Given the description of an element on the screen output the (x, y) to click on. 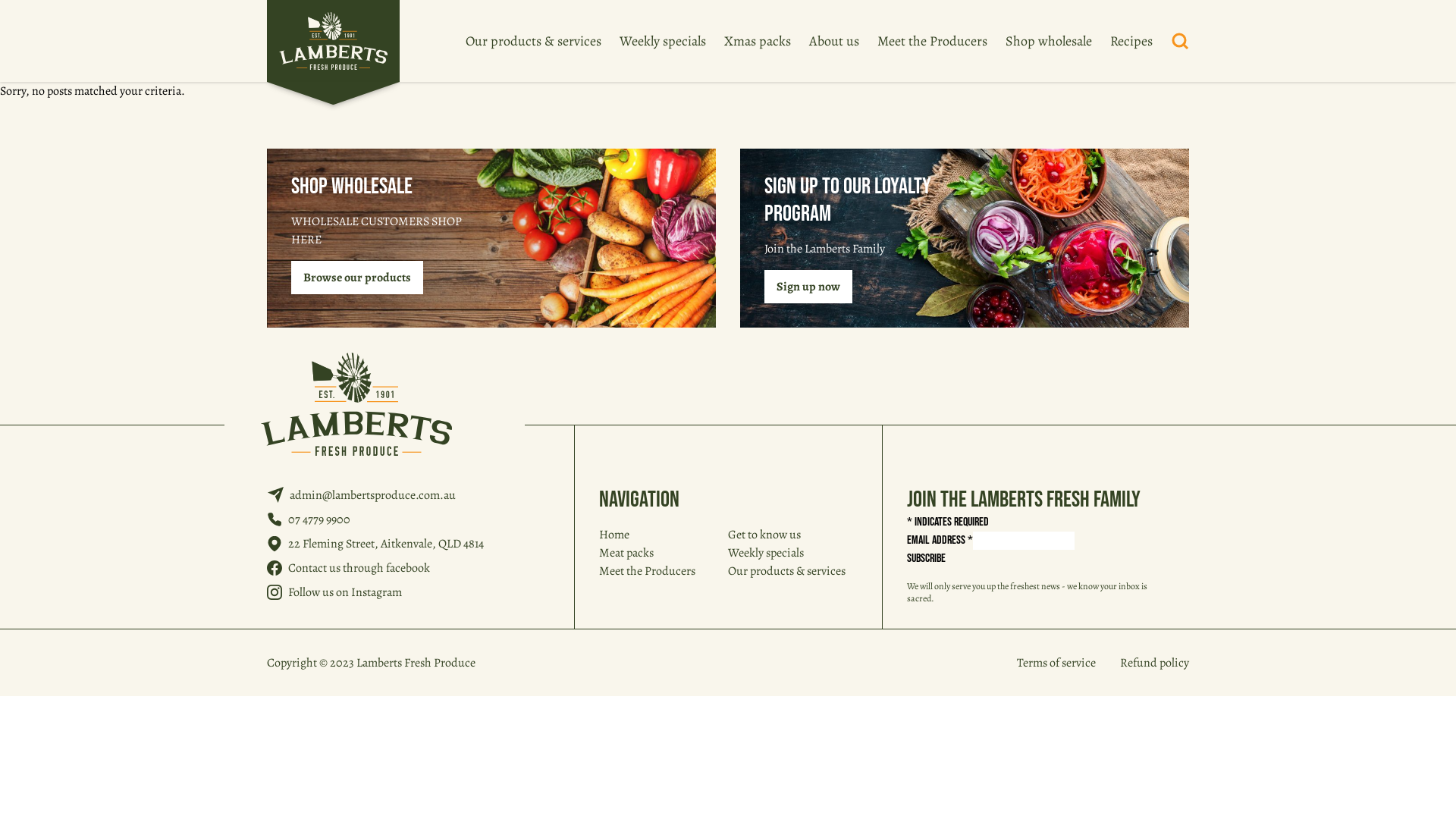
Sign up now Element type: text (808, 286)
Terms of service Element type: text (1055, 662)
Meet the Producers Element type: text (932, 40)
Browse our products Element type: text (357, 277)
admin@lambertsproduce.com.au Element type: text (372, 495)
Xmas packs Element type: text (757, 40)
Shop wholesale Element type: text (1048, 40)
Meat packs Element type: text (626, 552)
Weekly specials Element type: text (662, 40)
Subscribe Element type: text (925, 558)
Refund policy Element type: text (1154, 662)
Home Element type: text (614, 534)
Our products & services Element type: text (786, 570)
Meet the Producers Element type: text (647, 570)
About us Element type: text (834, 40)
Recipes Element type: text (1131, 40)
Get to know us Element type: text (764, 534)
Weekly specials Element type: text (765, 552)
Follow us on Instagram Element type: text (344, 591)
Contact us through facebook Element type: text (358, 567)
Our products & services Element type: text (533, 40)
